Given the description of an element on the screen output the (x, y) to click on. 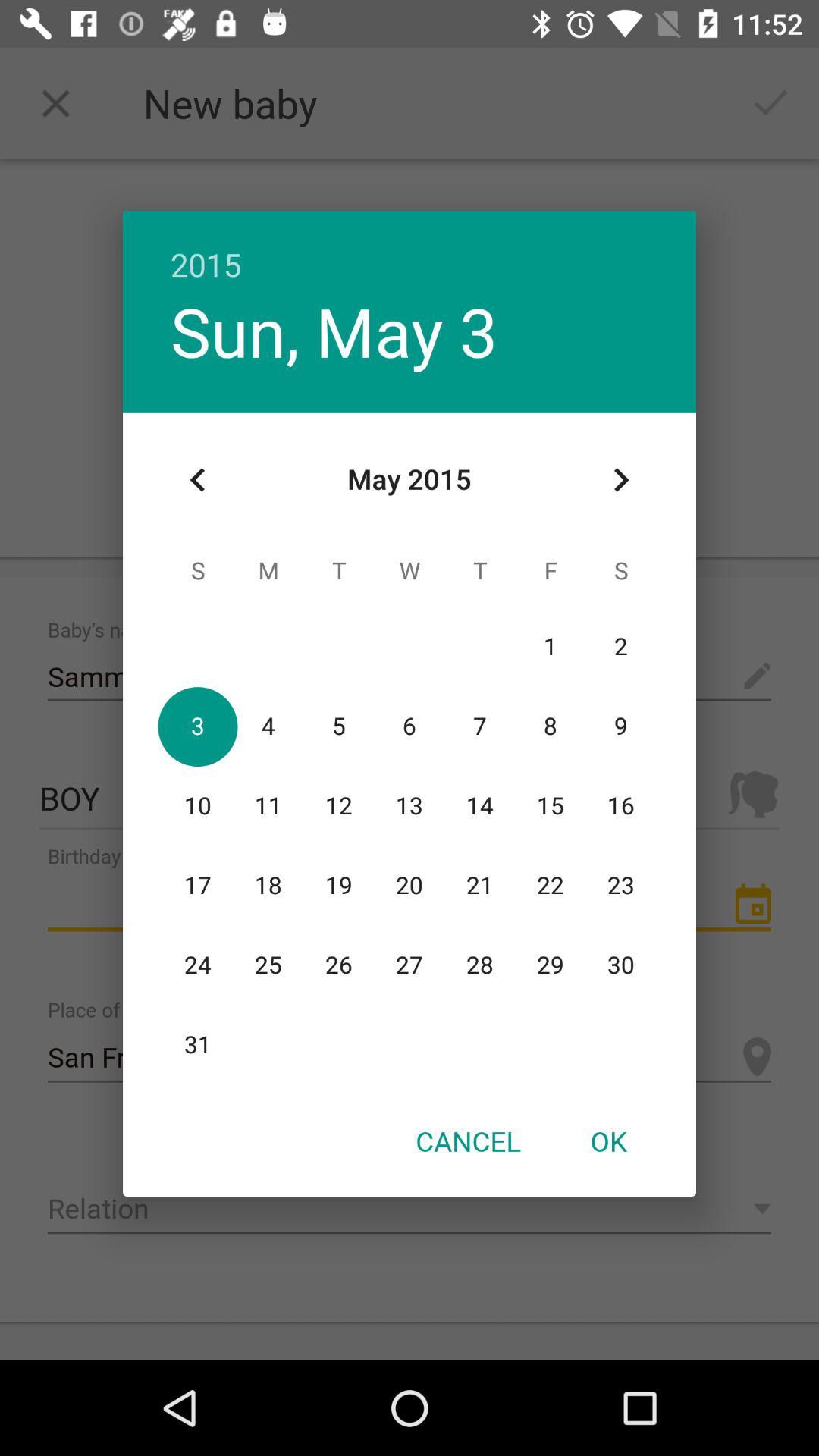
choose the ok at the bottom right corner (608, 1140)
